Given the description of an element on the screen output the (x, y) to click on. 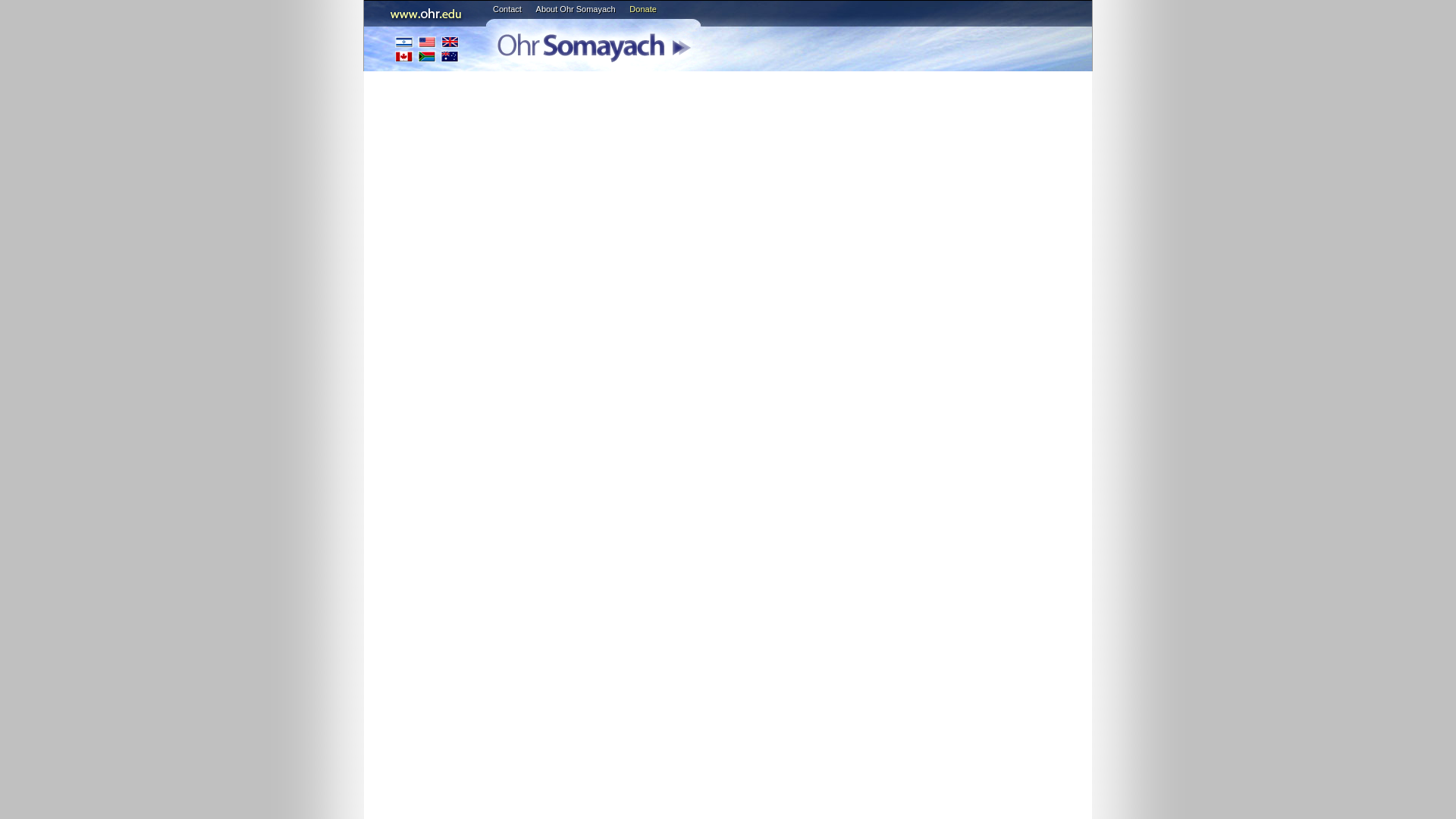
Donate (642, 8)
International Branches (427, 49)
International Branches (427, 49)
About Ohr Somayach (575, 8)
Contact (507, 8)
